Given the description of an element on the screen output the (x, y) to click on. 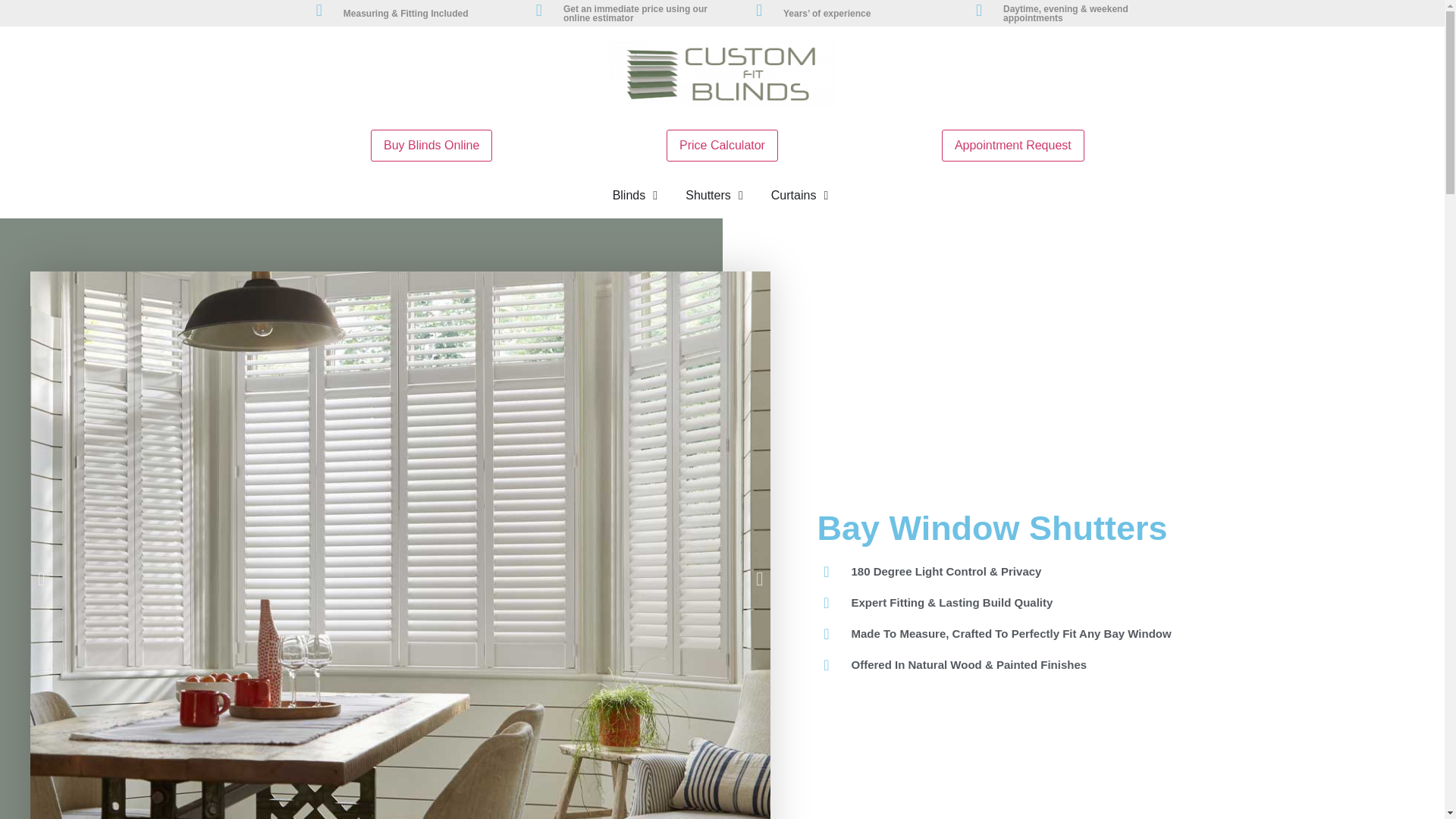
Appointment Request (1013, 145)
Buy Blinds Online (431, 145)
Price Calculator (721, 145)
Price Calculator (721, 144)
Buy Blinds Online (431, 144)
Appointment Request (1013, 144)
